Given the description of an element on the screen output the (x, y) to click on. 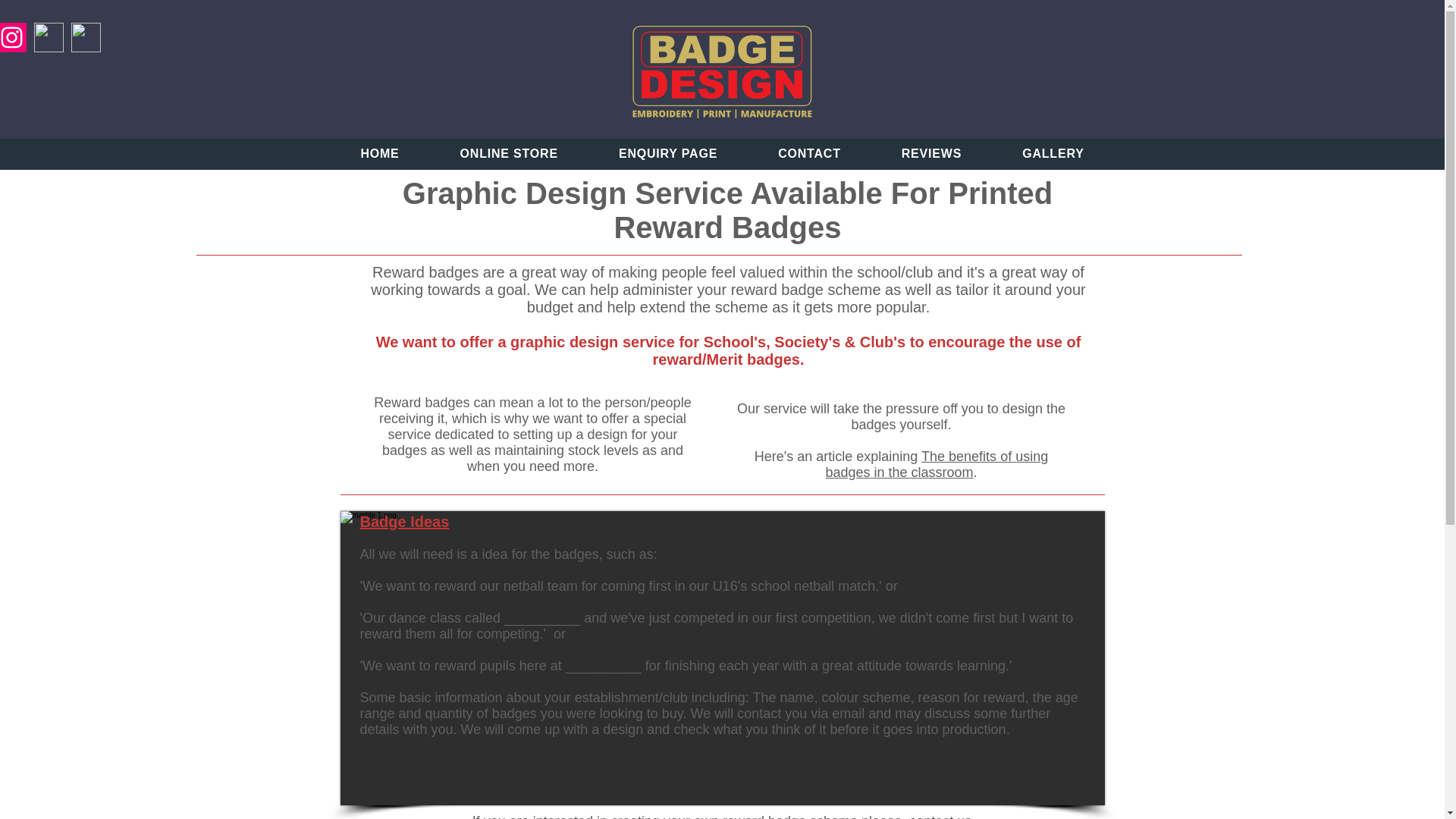
HOME (379, 153)
GALLERY (1052, 153)
ENQUIRY PAGE (668, 153)
REVIEWS (930, 153)
ONLINE STORE (508, 153)
CONTACT (809, 153)
The benefits of using badges in the classroom (936, 463)
